Given the description of an element on the screen output the (x, y) to click on. 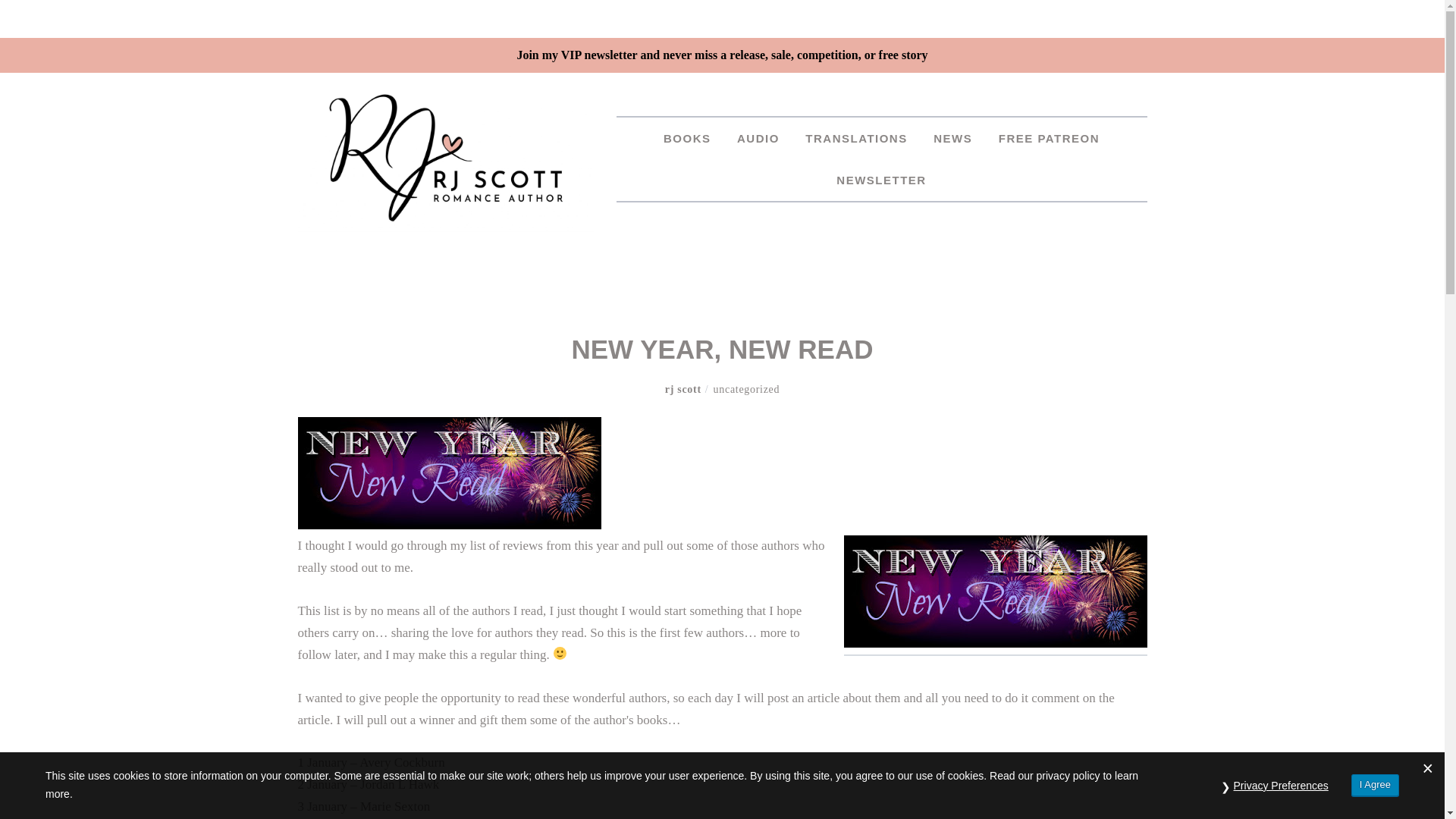
uncategorized (746, 389)
BOOKS (687, 137)
AUDIO (757, 137)
NEWSLETTER (881, 179)
TRANSLATIONS (855, 137)
FREE PATREON (1048, 137)
NEWS (952, 137)
